Given the description of an element on the screen output the (x, y) to click on. 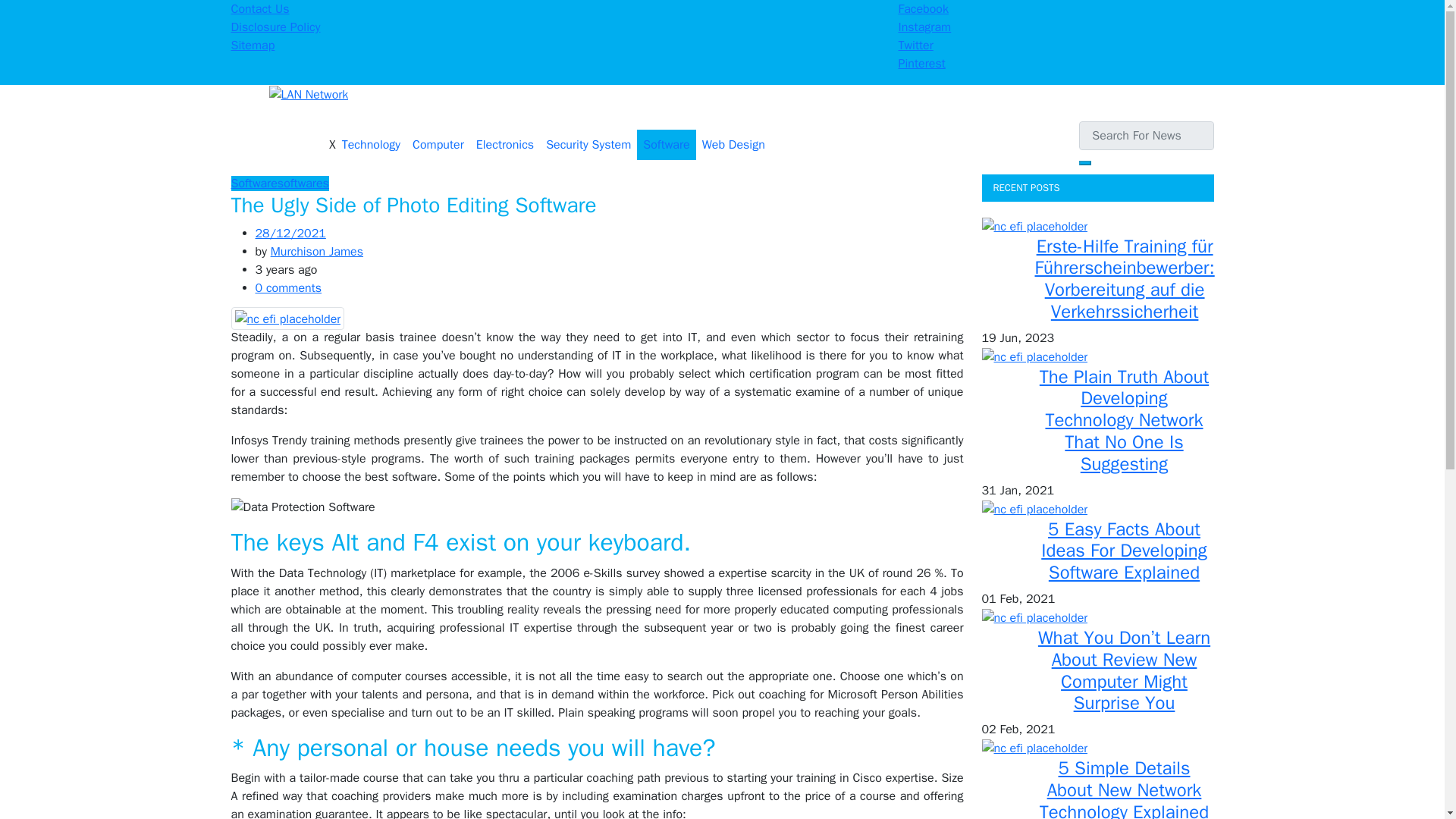
Facebook (922, 8)
Technology (371, 144)
5 Easy Facts About Ideas For Developing Software Explained (1034, 509)
Software (666, 144)
Murchison James (316, 251)
Web Design (733, 144)
0 comments (287, 287)
softwares (303, 183)
Sitemap (252, 45)
